Given the description of an element on the screen output the (x, y) to click on. 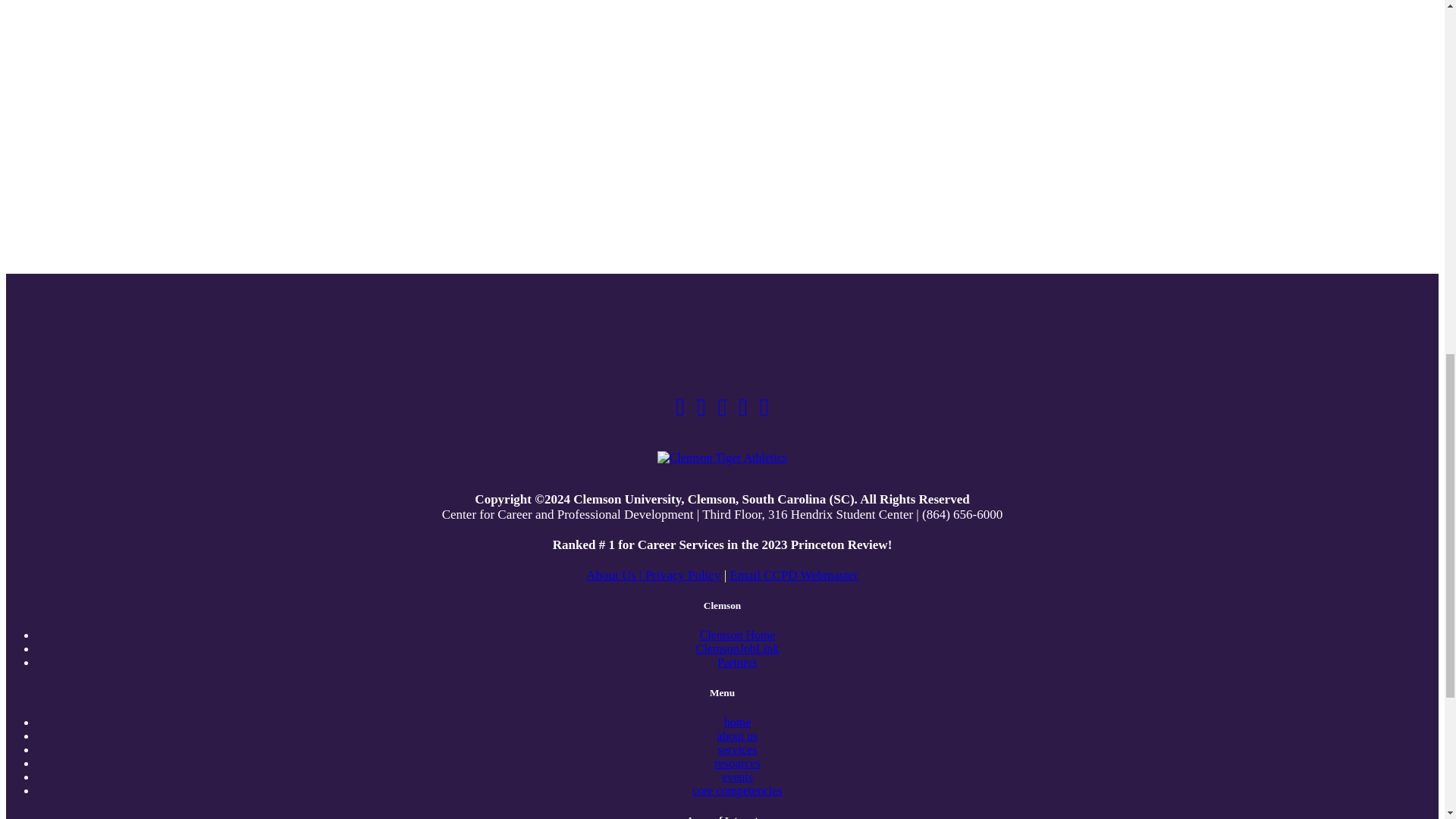
ClemsonCCPD (742, 410)
Privacy Policy (682, 575)
TigerProfessionals (701, 410)
ClemsonCCPD (722, 410)
Partners (737, 662)
ClemsonCCPD (679, 410)
Email CCPD Webmaster (793, 575)
ClemsonCCPD (764, 410)
Clemson Home (736, 634)
Contact Clemson (793, 575)
